Given the description of an element on the screen output the (x, y) to click on. 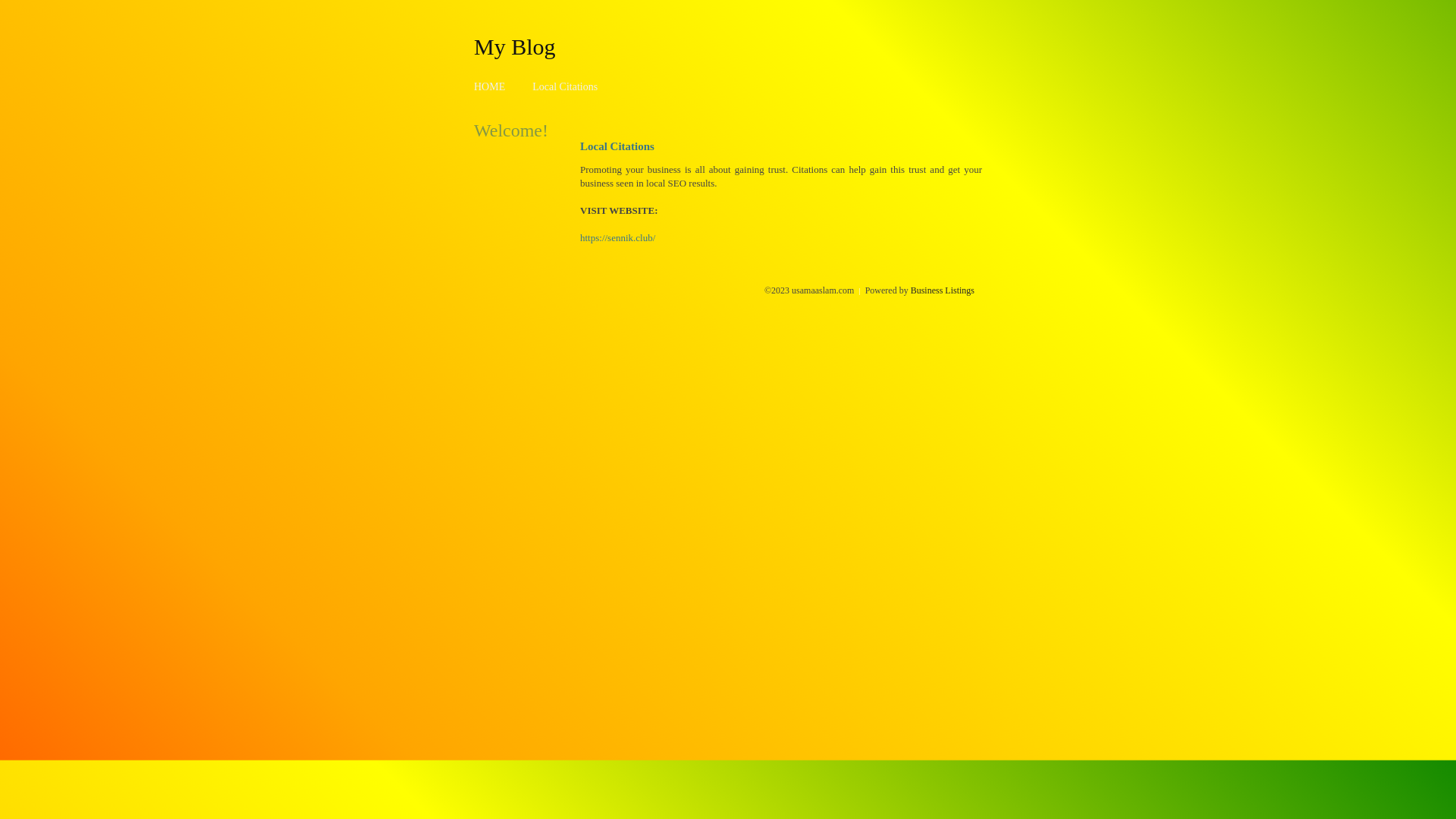
HOME Element type: text (489, 86)
My Blog Element type: text (514, 46)
Local Citations Element type: text (564, 86)
Business Listings Element type: text (942, 290)
https://sennik.club/ Element type: text (617, 237)
